Given the description of an element on the screen output the (x, y) to click on. 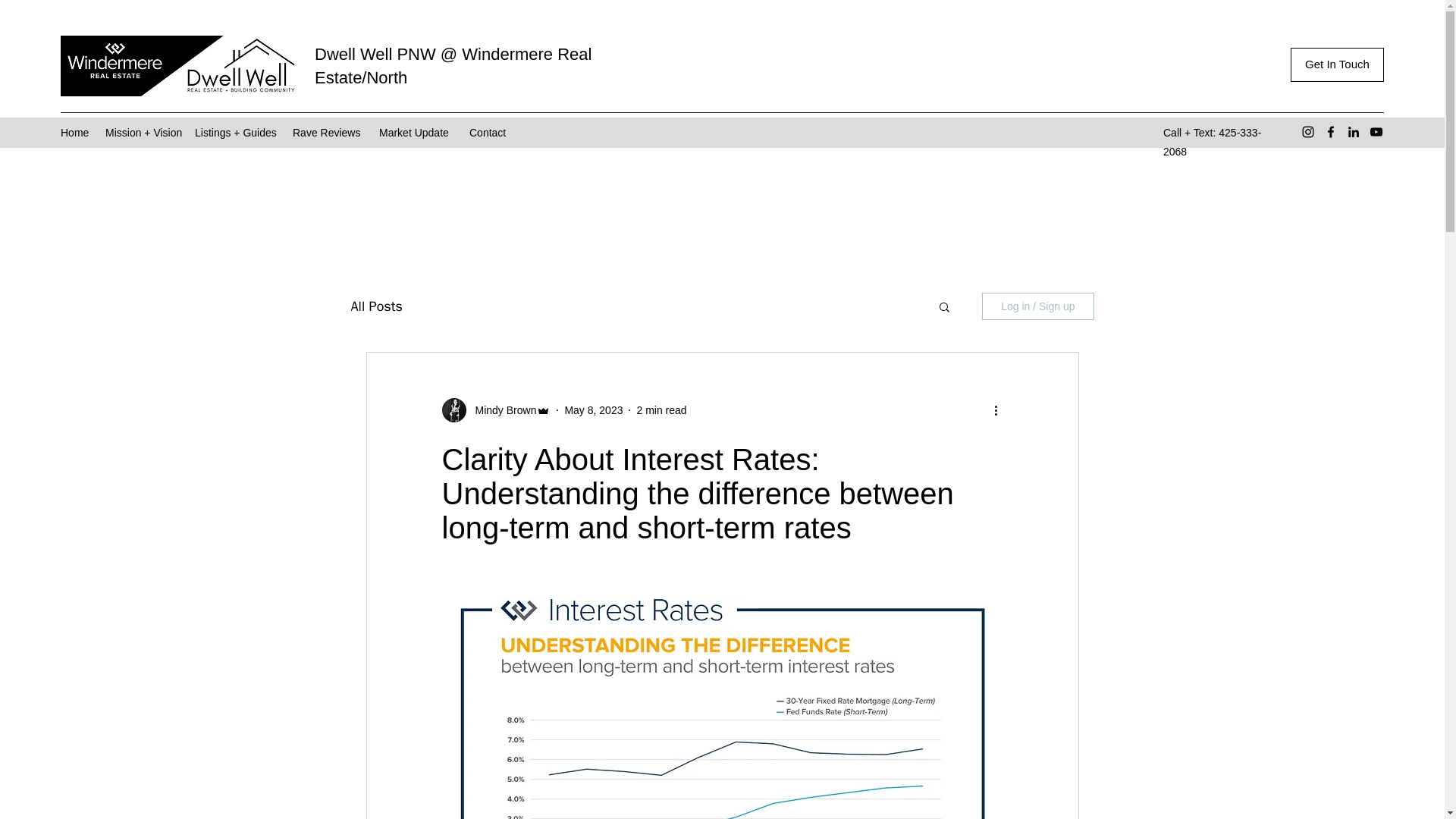
Market Update (416, 132)
May 8, 2023 (593, 410)
All Posts (375, 306)
Home (74, 132)
2 min read (660, 410)
Mindy Brown (500, 410)
Rave Reviews (328, 132)
Contact (488, 132)
